Given the description of an element on the screen output the (x, y) to click on. 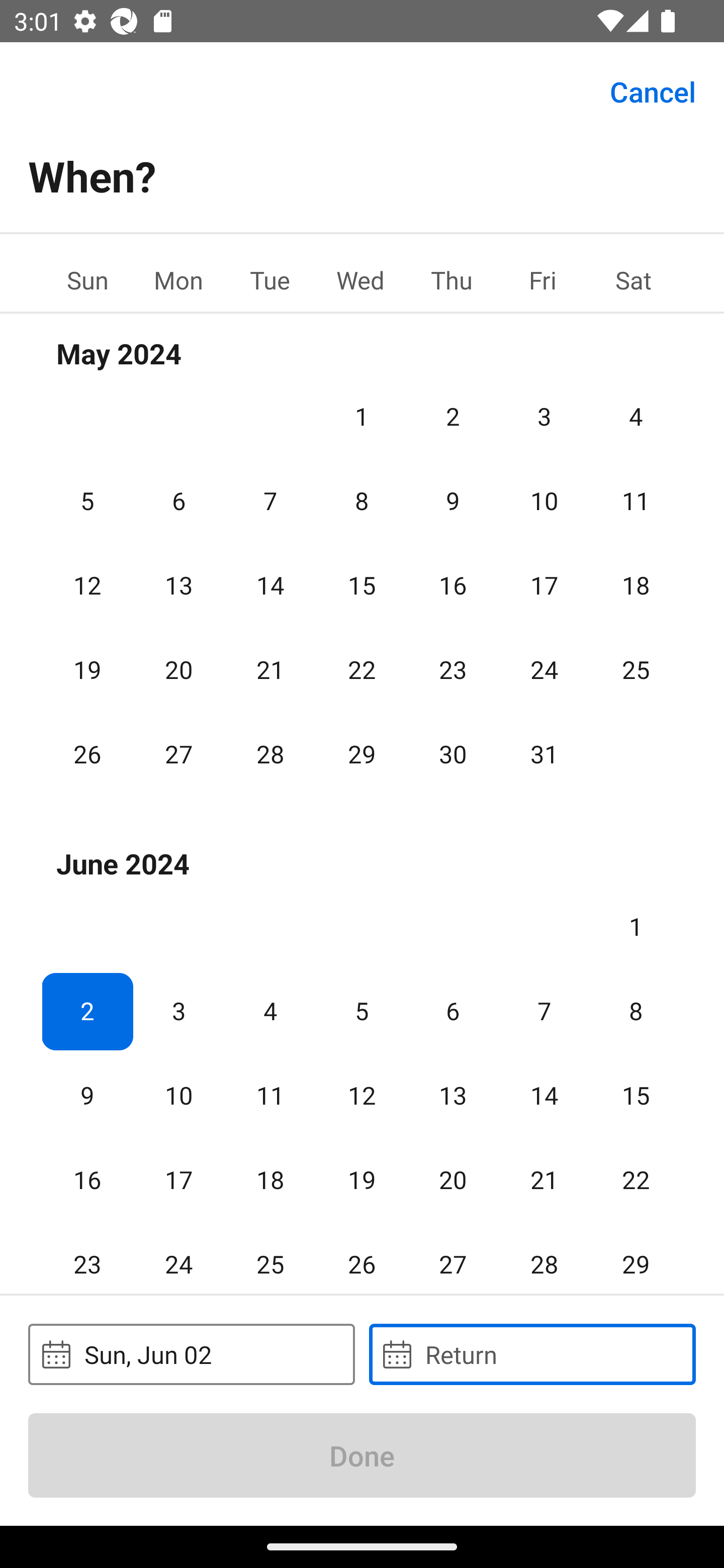
Cancel (652, 90)
Sun, Jun 02 (191, 1353)
Return (532, 1353)
Done (361, 1454)
